Given the description of an element on the screen output the (x, y) to click on. 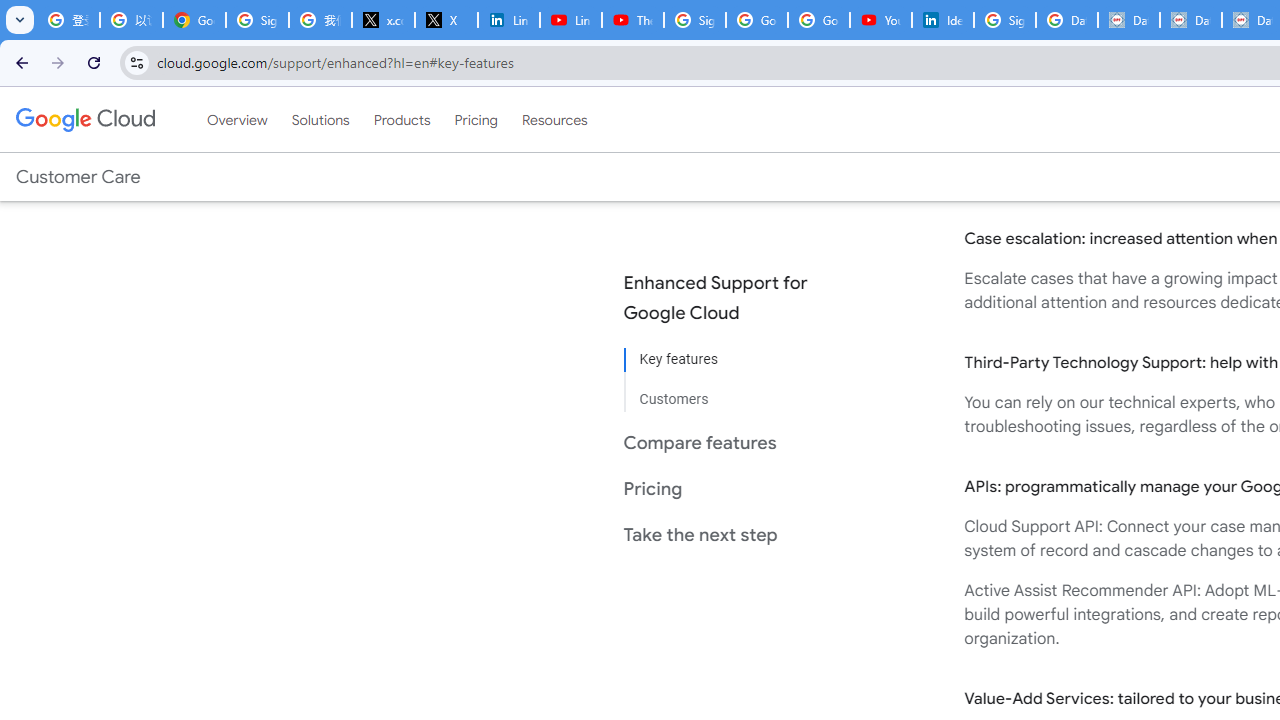
Solutions (320, 119)
Data Privacy Framework (1190, 20)
Sign in - Google Accounts (694, 20)
